Given the description of an element on the screen output the (x, y) to click on. 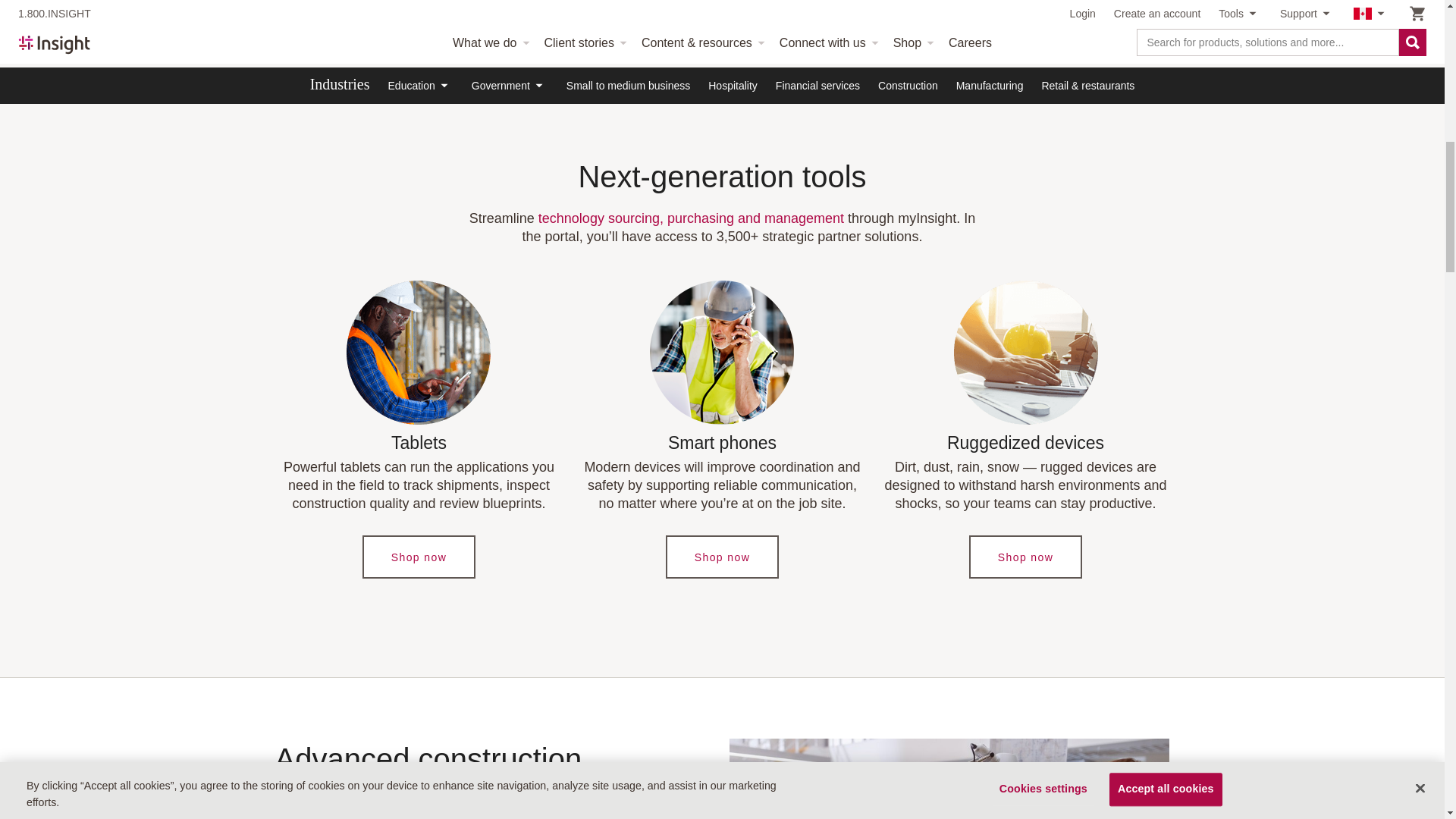
Create workflow efficiencies that free teams (949, 778)
